Given the description of an element on the screen output the (x, y) to click on. 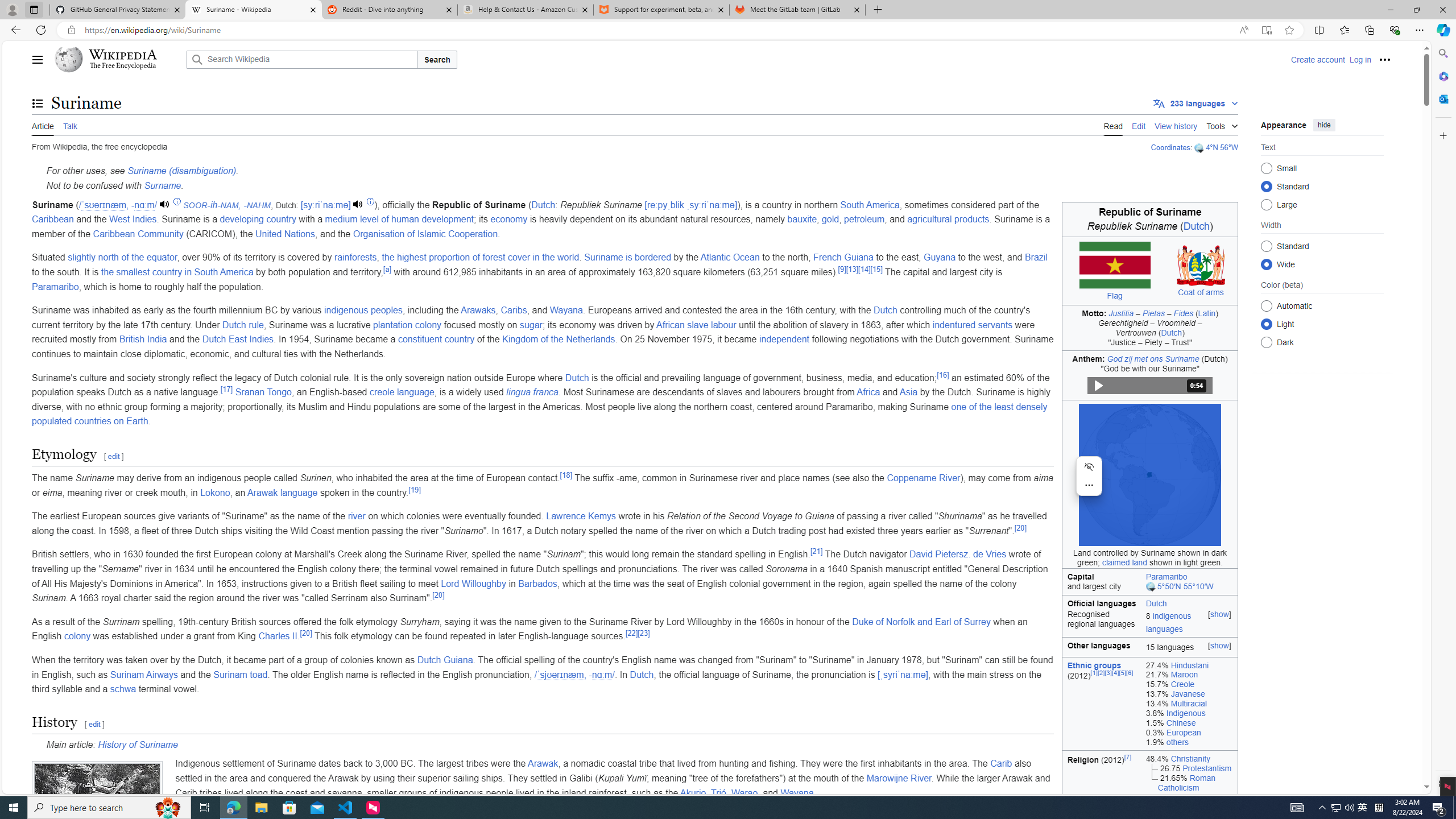
Flag of Suriname (1114, 264)
Warao (744, 792)
[21] (815, 551)
economy (508, 219)
View history (1176, 124)
African slave labour (696, 324)
others (1177, 741)
Javanese (1187, 693)
British India (143, 339)
Automatic (1266, 305)
Tools (1222, 124)
